Given the description of an element on the screen output the (x, y) to click on. 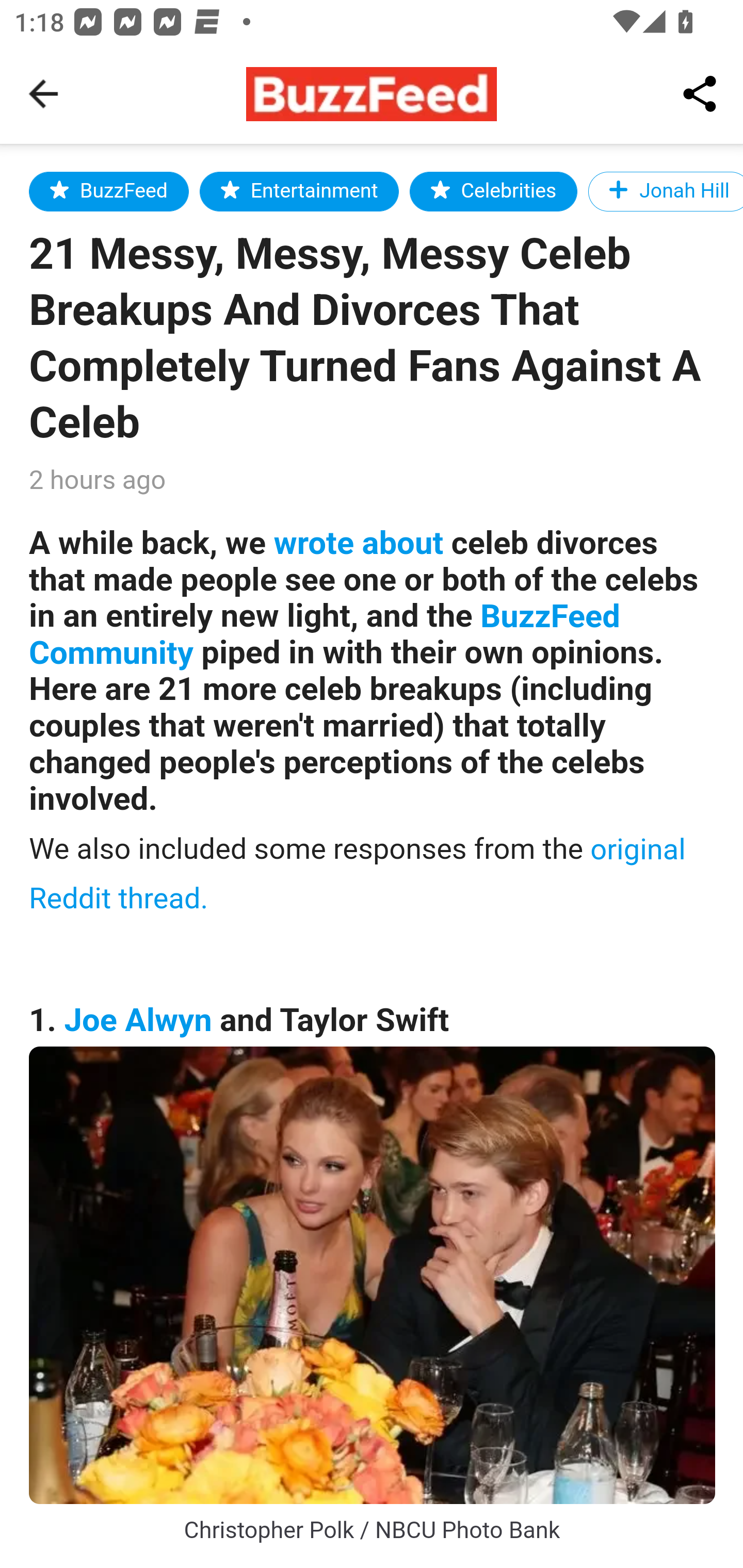
BuzzFeed (108, 191)
Entertainment (299, 191)
Celebrities (492, 191)
Jonah Hill (664, 191)
wrote about (358, 542)
BuzzFeed Community (324, 635)
original Reddit thread. (357, 872)
Joe Alwyn (138, 1020)
